Given the description of an element on the screen output the (x, y) to click on. 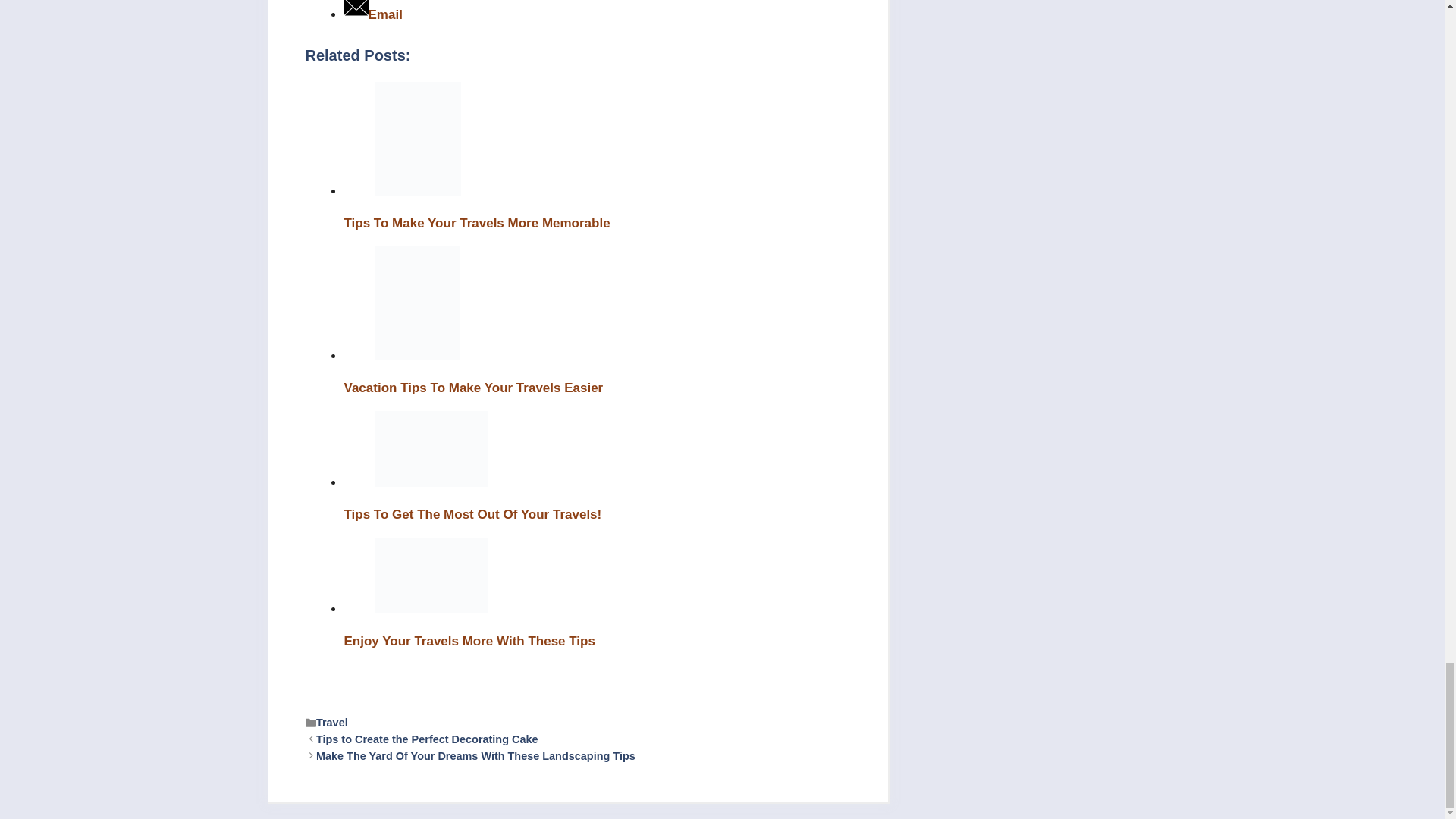
Enjoy Your Travels More With These Tips (430, 575)
Tips To Get The Most Out Of Your Travels! (430, 448)
Share on Email (373, 14)
